Given the description of an element on the screen output the (x, y) to click on. 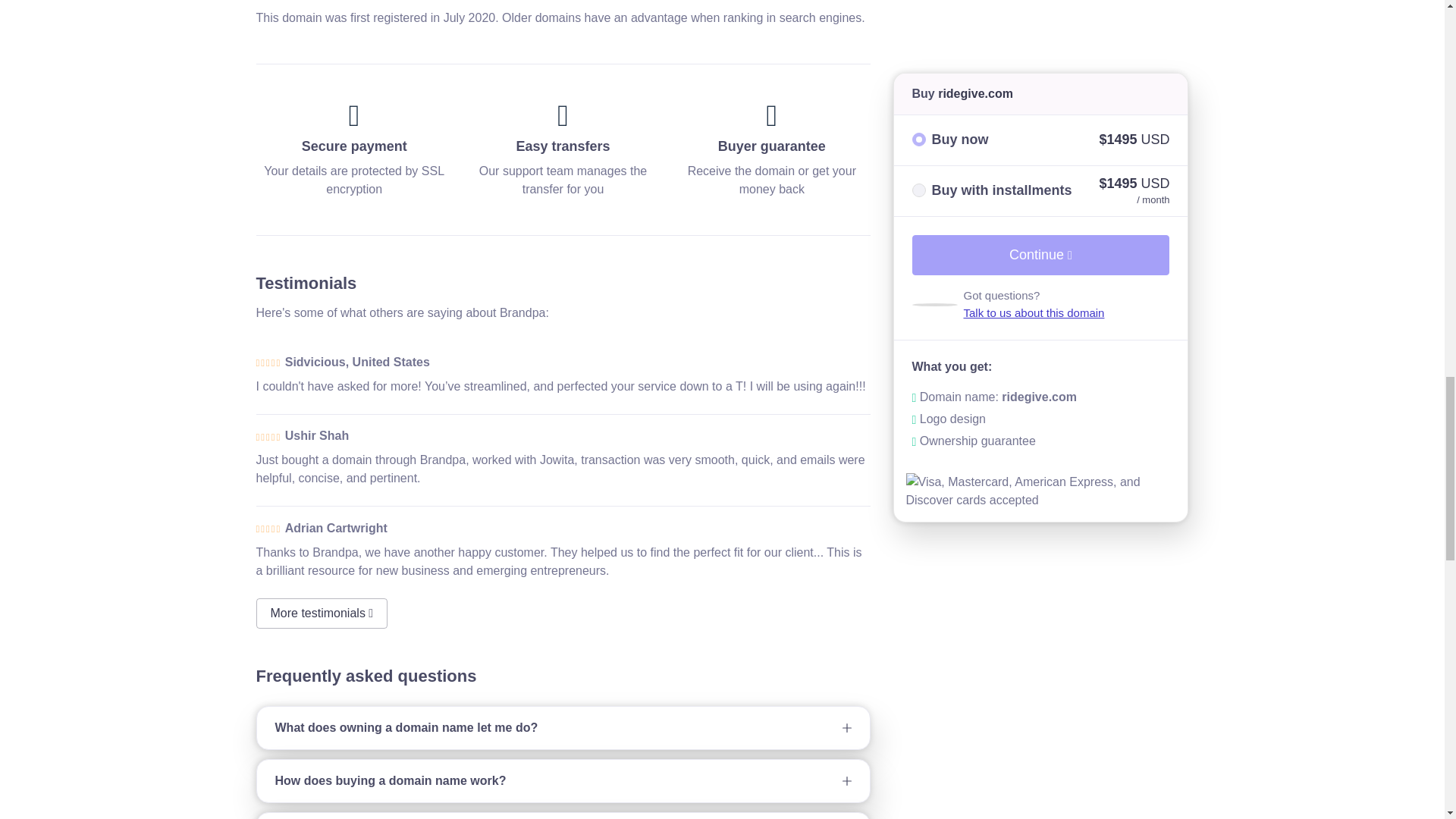
What does owning a domain name let me do? (562, 727)
How does buying a domain name work? (562, 781)
More testimonials (322, 613)
